Given the description of an element on the screen output the (x, y) to click on. 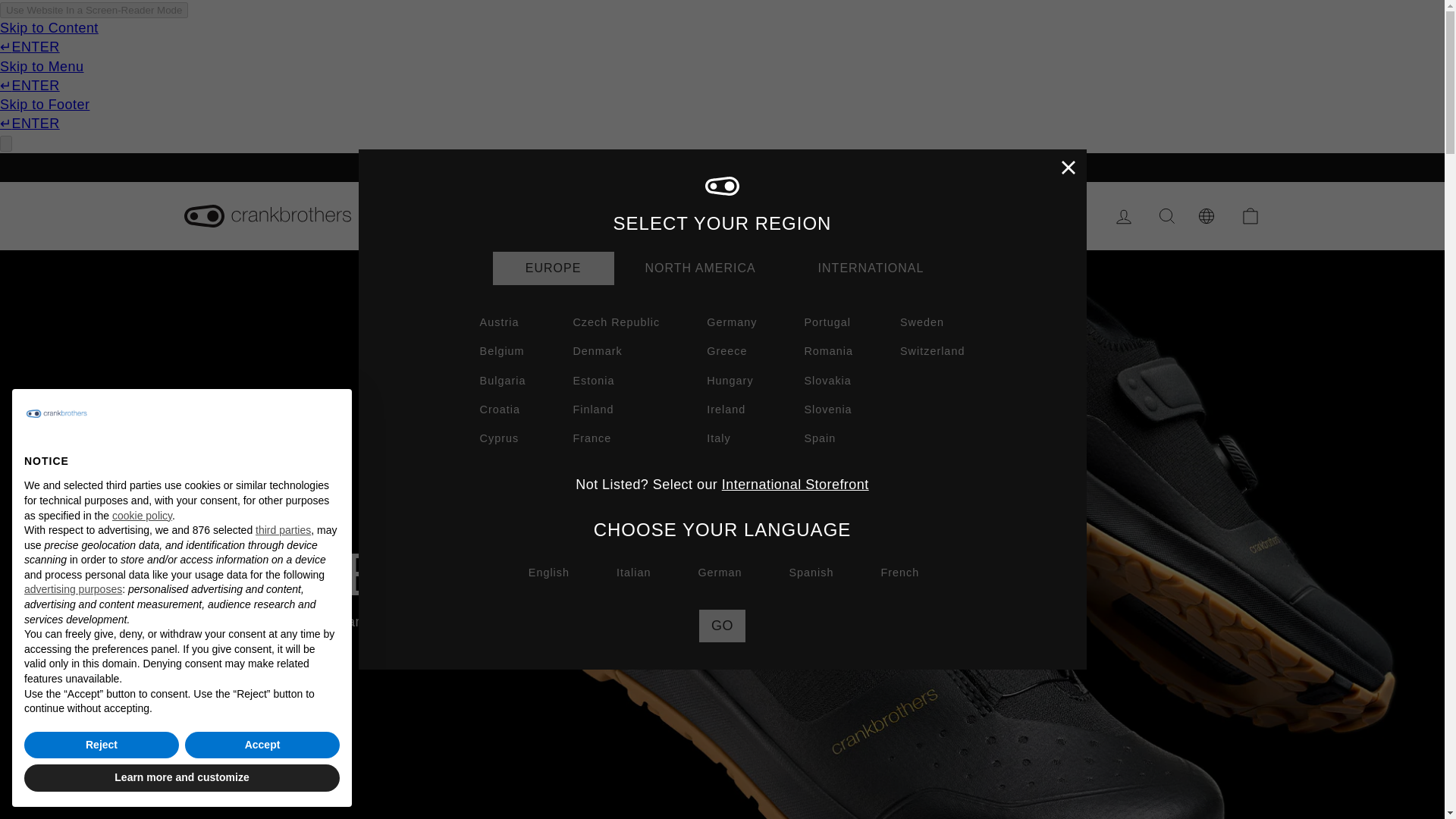
Go (721, 625)
